Given the description of an element on the screen output the (x, y) to click on. 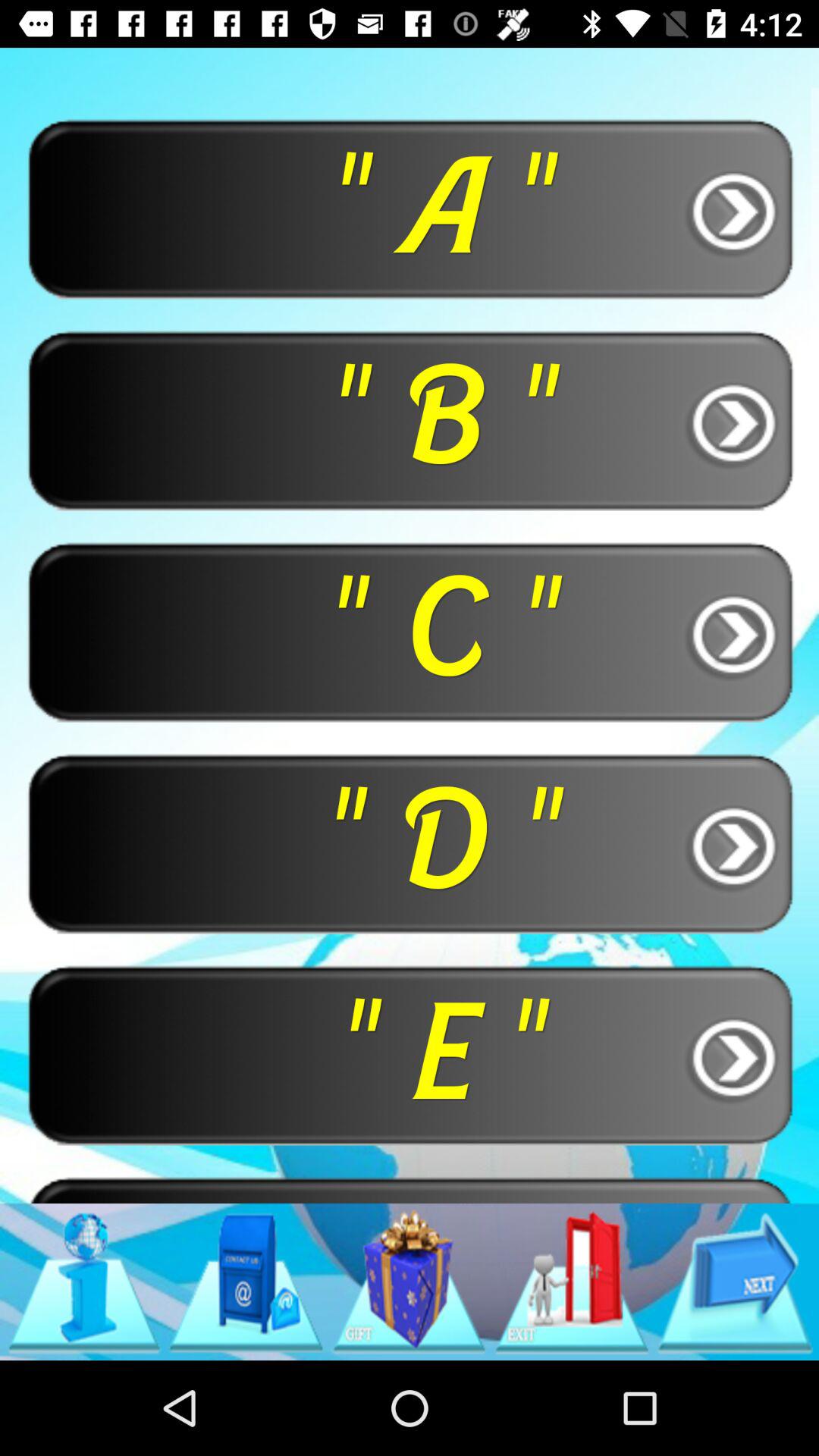
turn on the item below the   " f " icon (83, 1281)
